Given the description of an element on the screen output the (x, y) to click on. 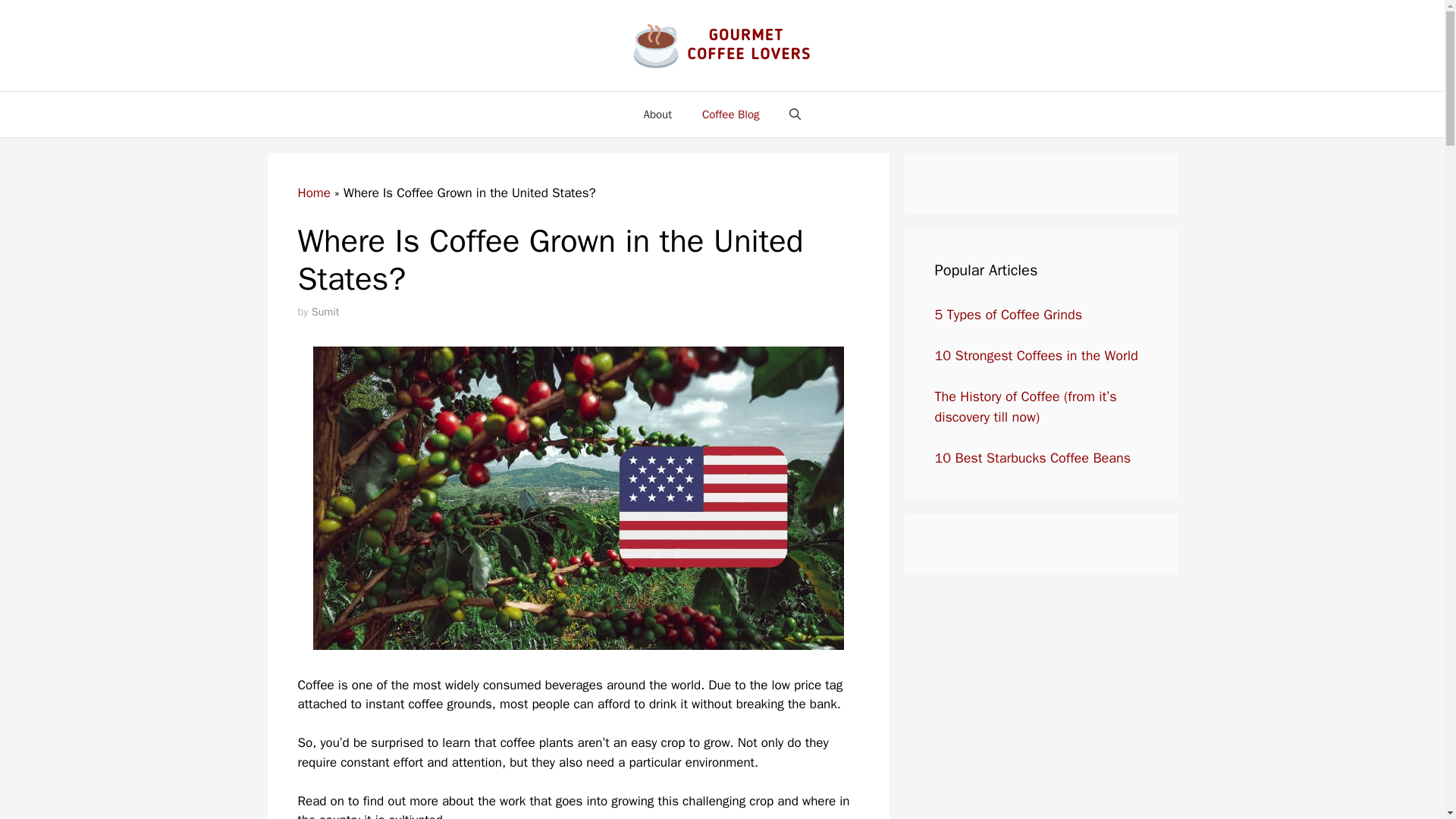
10 Strongest Coffees in the World (1035, 355)
Sumit (325, 311)
About (657, 114)
Coffee Blog (730, 114)
10 Best Starbucks Coffee Beans (1032, 457)
View all posts by Sumit (325, 311)
5 Types of Coffee Grinds (1007, 314)
Home (313, 192)
